Given the description of an element on the screen output the (x, y) to click on. 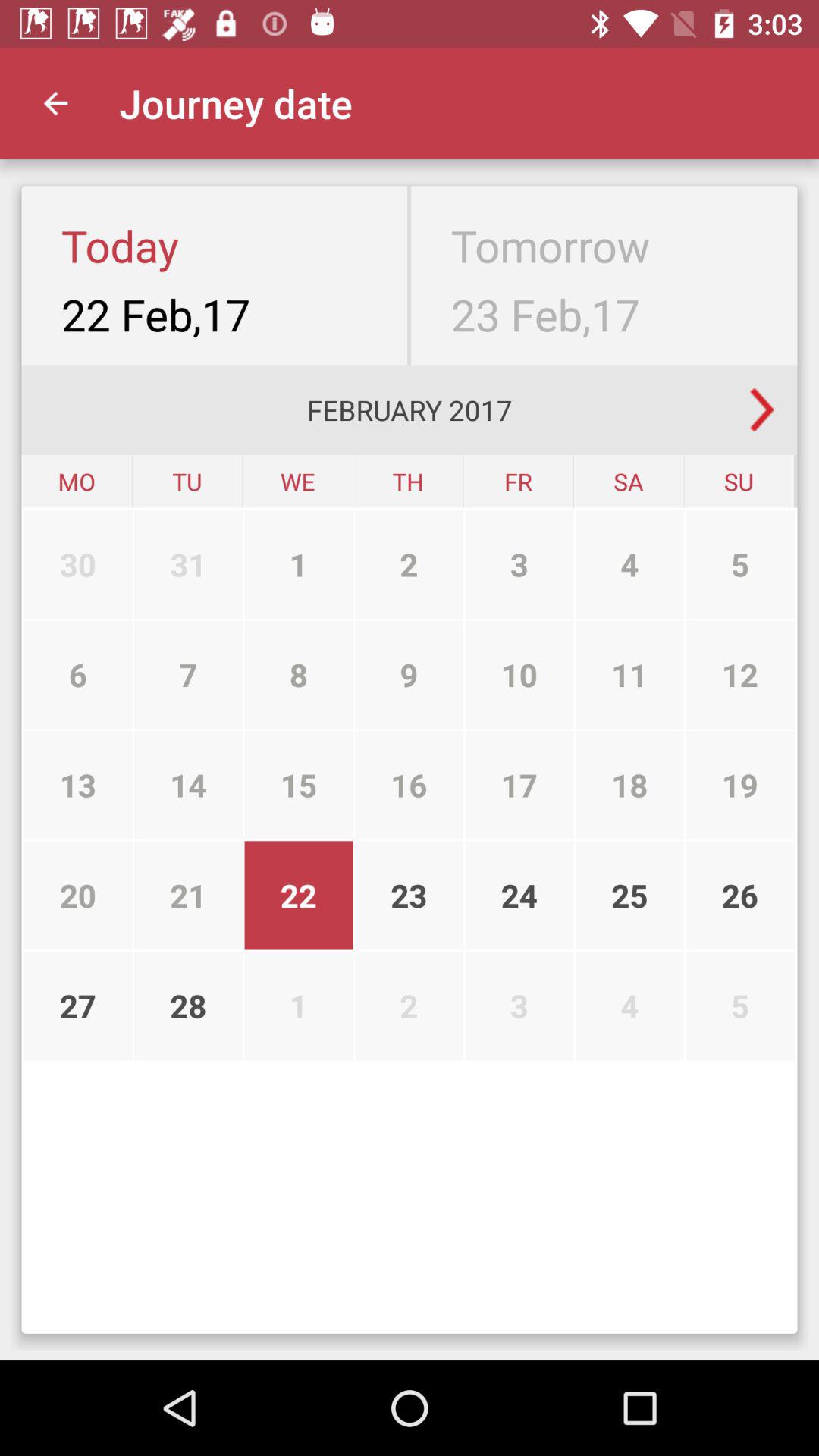
jump until 9 item (408, 674)
